Given the description of an element on the screen output the (x, y) to click on. 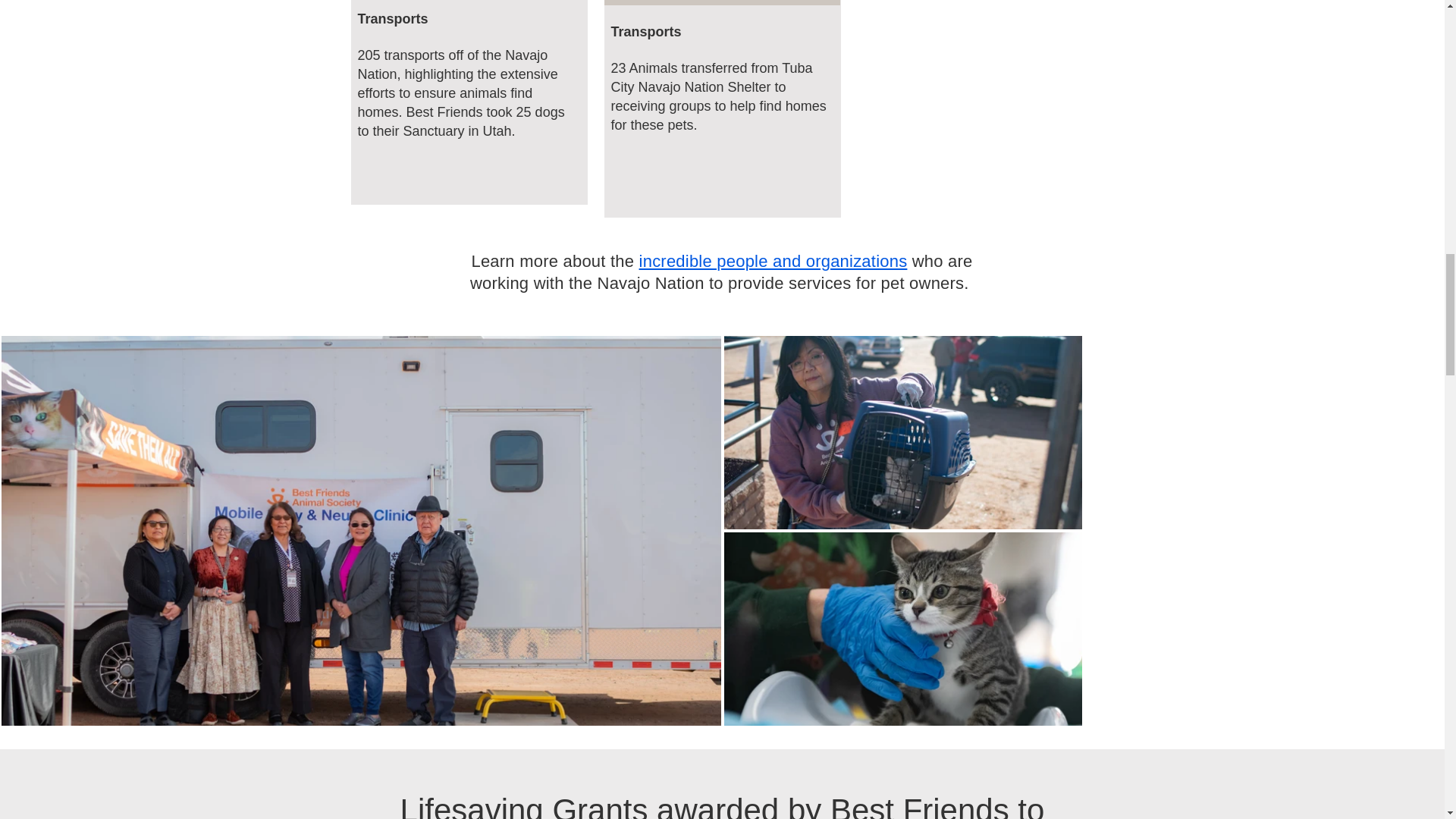
incredible people and organizations (773, 261)
